Given the description of an element on the screen output the (x, y) to click on. 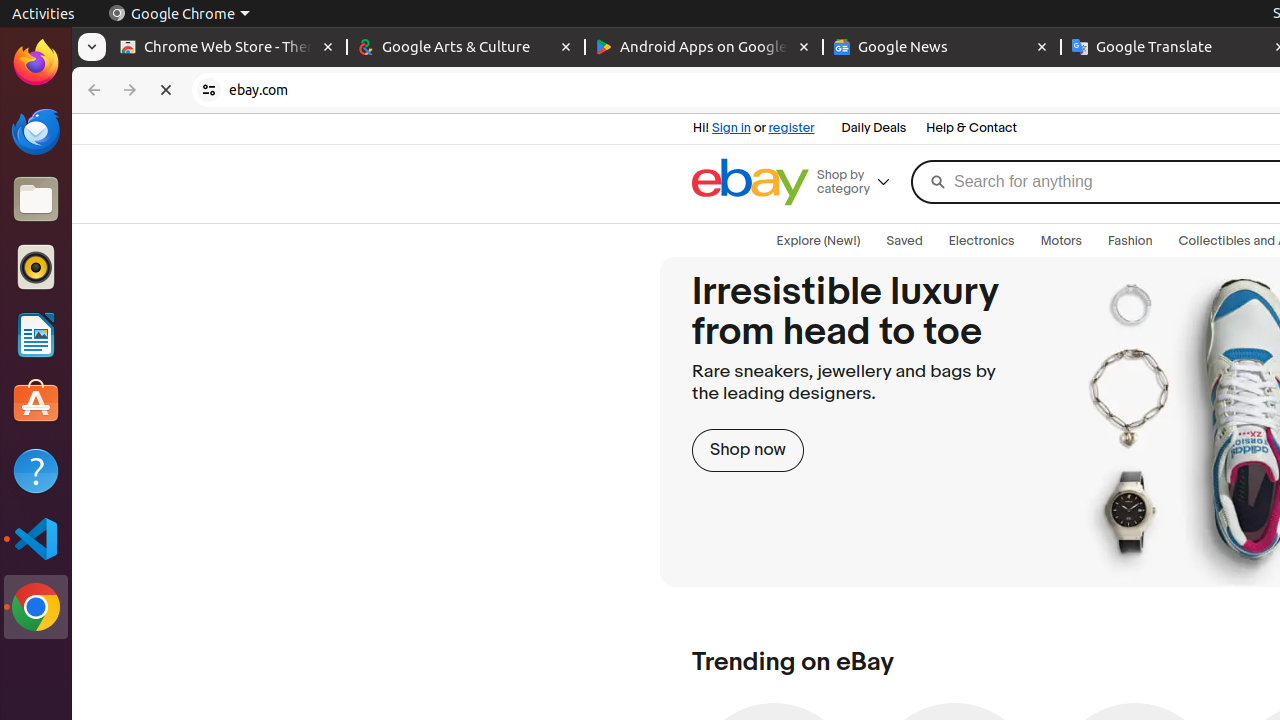
LibreOffice Writer Element type: push-button (36, 334)
Explore (New!) Element type: link (818, 241)
Help & Contact Element type: link (971, 129)
View site information Element type: push-button (209, 90)
Fashion Element type: link (1130, 241)
